Given the description of an element on the screen output the (x, y) to click on. 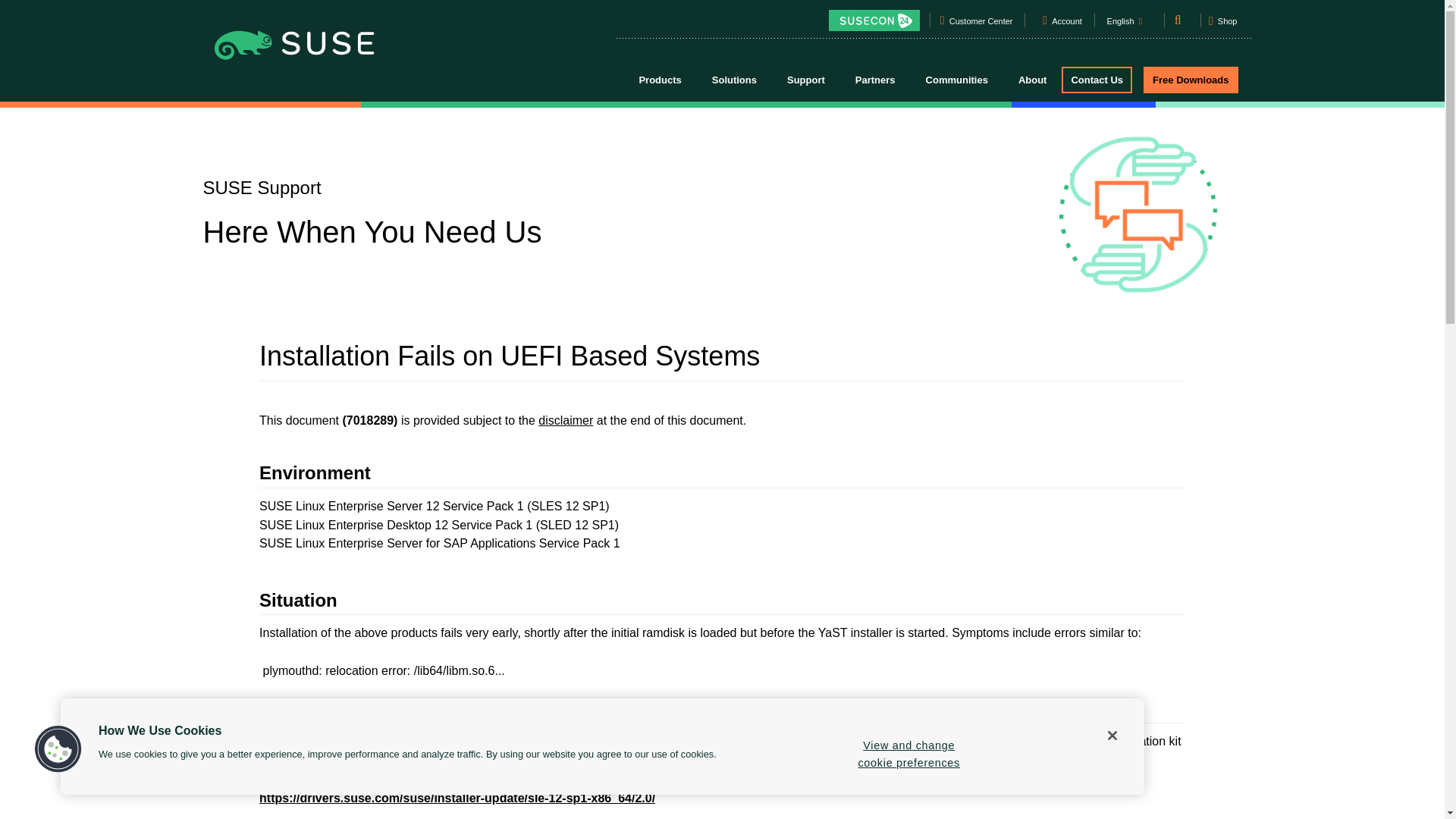
Customer Center (980, 23)
Account (1066, 23)
Cookies Button (57, 748)
Shop (1222, 25)
